Given the description of an element on the screen output the (x, y) to click on. 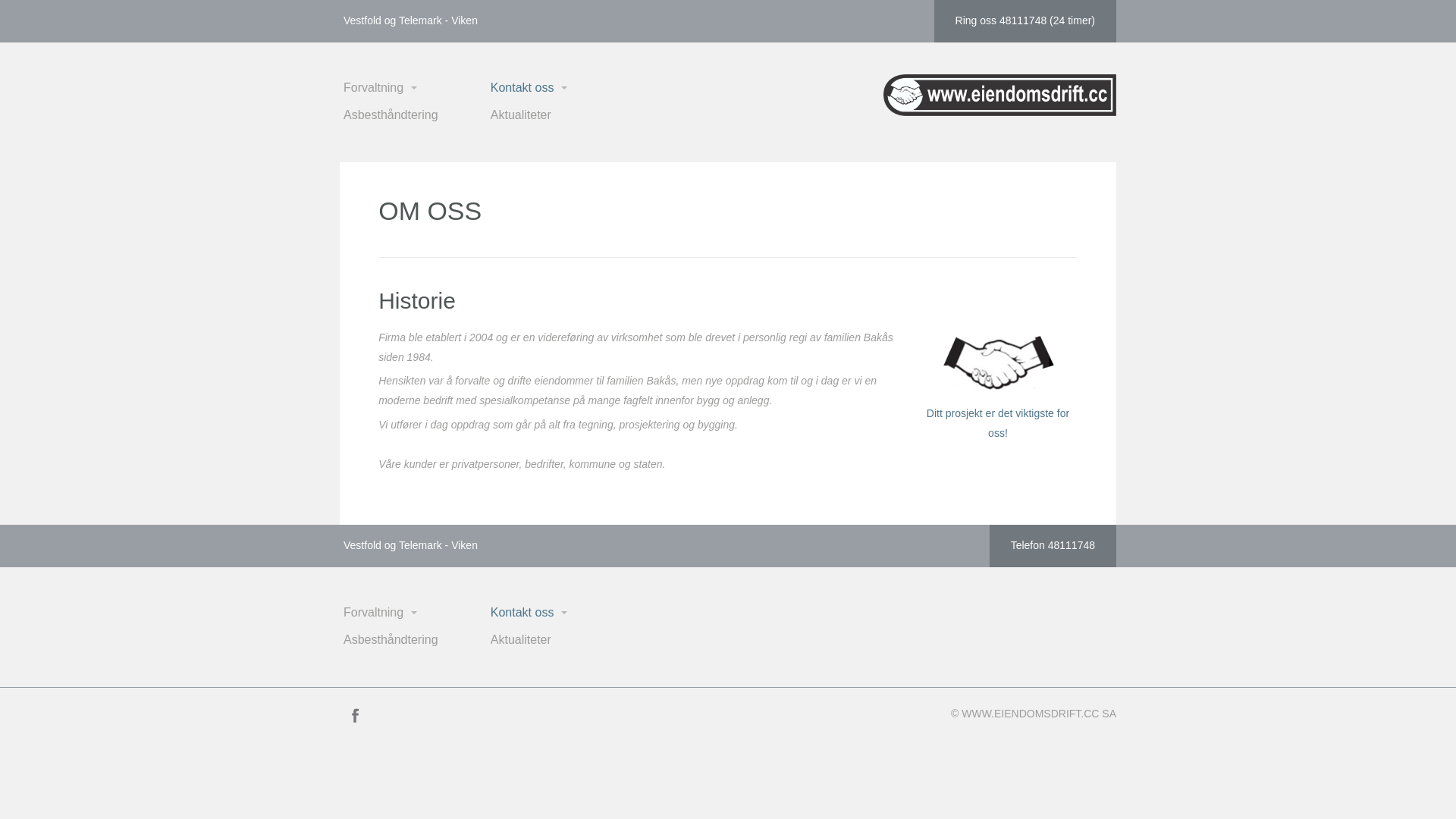
Ditt prosjekt er det viktigste for oss! Element type: text (997, 384)
Facebook Element type: text (354, 714)
Aktualiteter Element type: text (562, 114)
Aktualiteter Element type: text (562, 639)
